Given the description of an element on the screen output the (x, y) to click on. 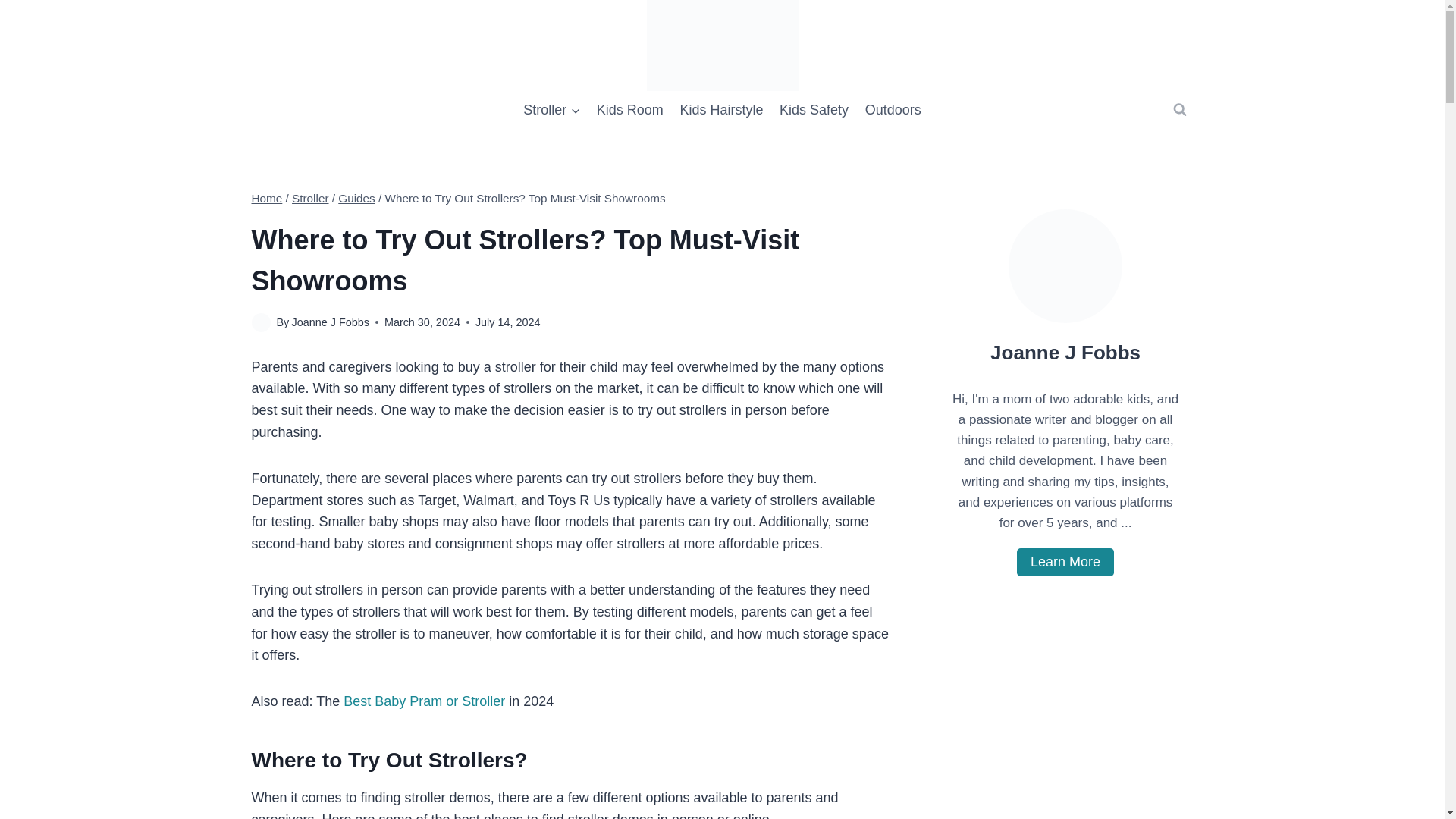
Kids Room (629, 109)
Joanne J Fobbs (329, 322)
Kids Hairstyle (721, 109)
Best Baby Pram or Stroller (424, 701)
Outdoors (893, 109)
Guides (355, 197)
Stroller (551, 109)
Home (266, 197)
Kids Safety (814, 109)
Stroller (310, 197)
